Given the description of an element on the screen output the (x, y) to click on. 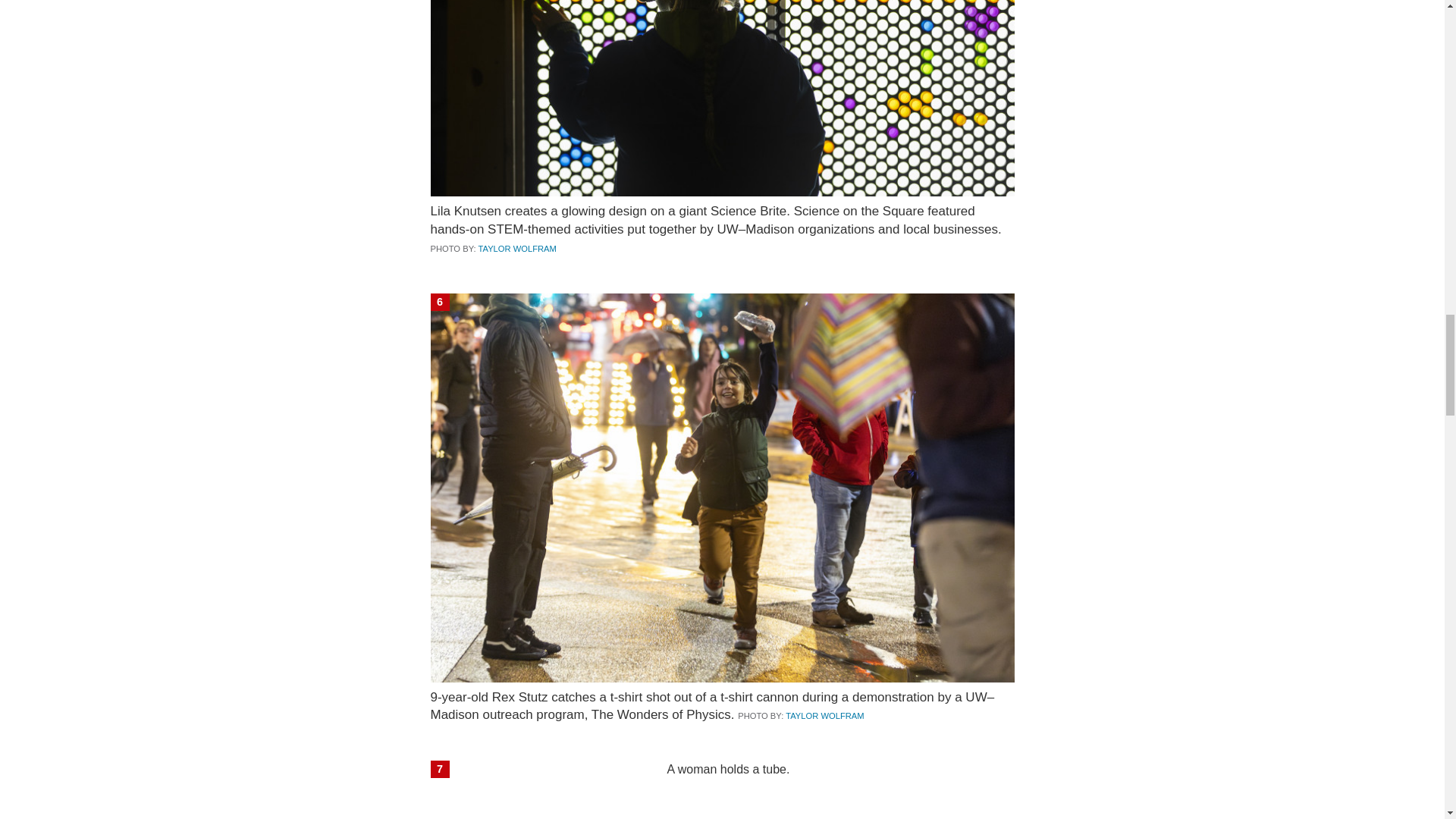
TAYLOR WOLFRAM (517, 248)
TAYLOR WOLFRAM (824, 715)
